Given the description of an element on the screen output the (x, y) to click on. 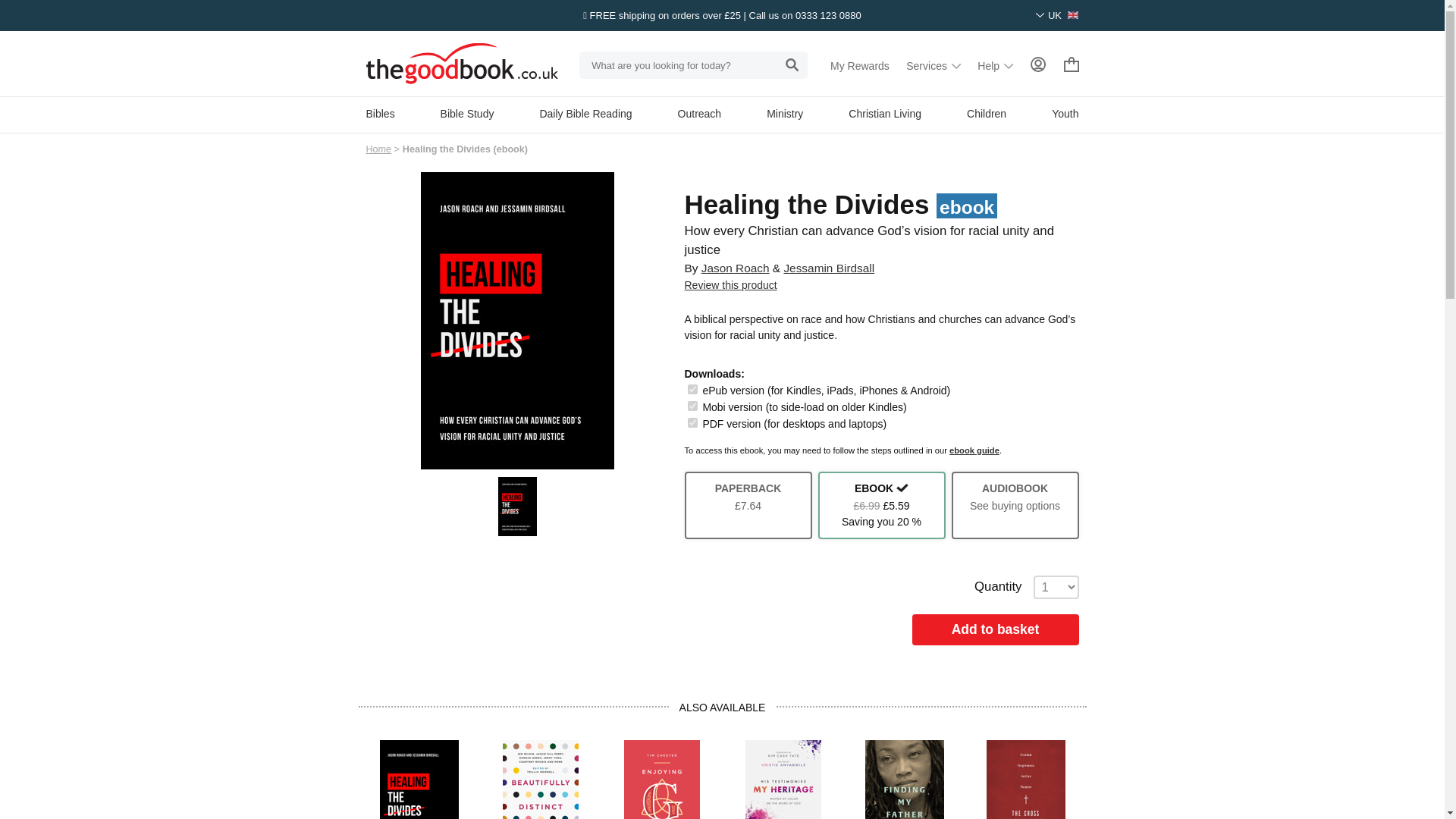
1 (692, 388)
1 (692, 406)
Help (994, 65)
1 (692, 422)
Go to Home Page (378, 149)
UK (1056, 14)
Bibles (379, 113)
Services (932, 65)
My Rewards (859, 65)
Sign in (1037, 64)
